Given the description of an element on the screen output the (x, y) to click on. 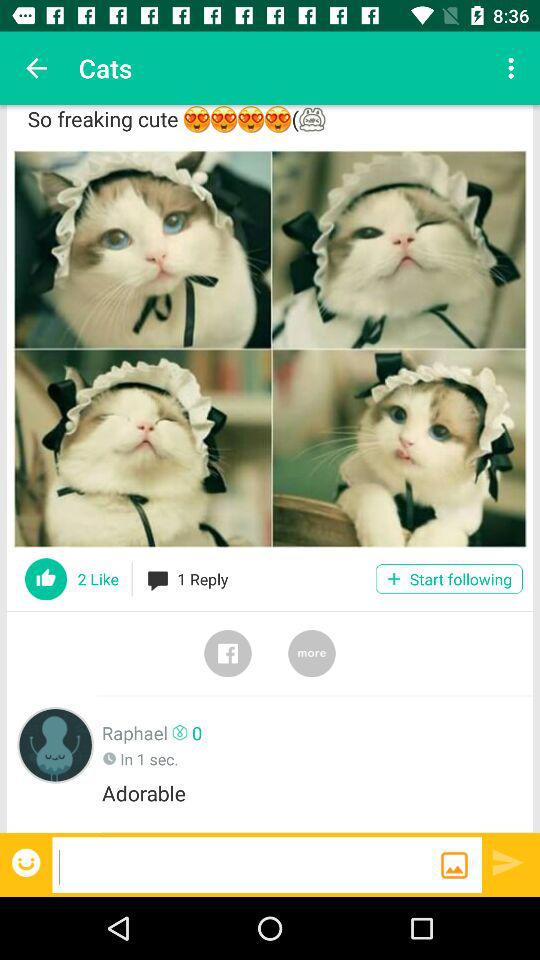
click item next to the 1 reply (448, 578)
